Given the description of an element on the screen output the (x, y) to click on. 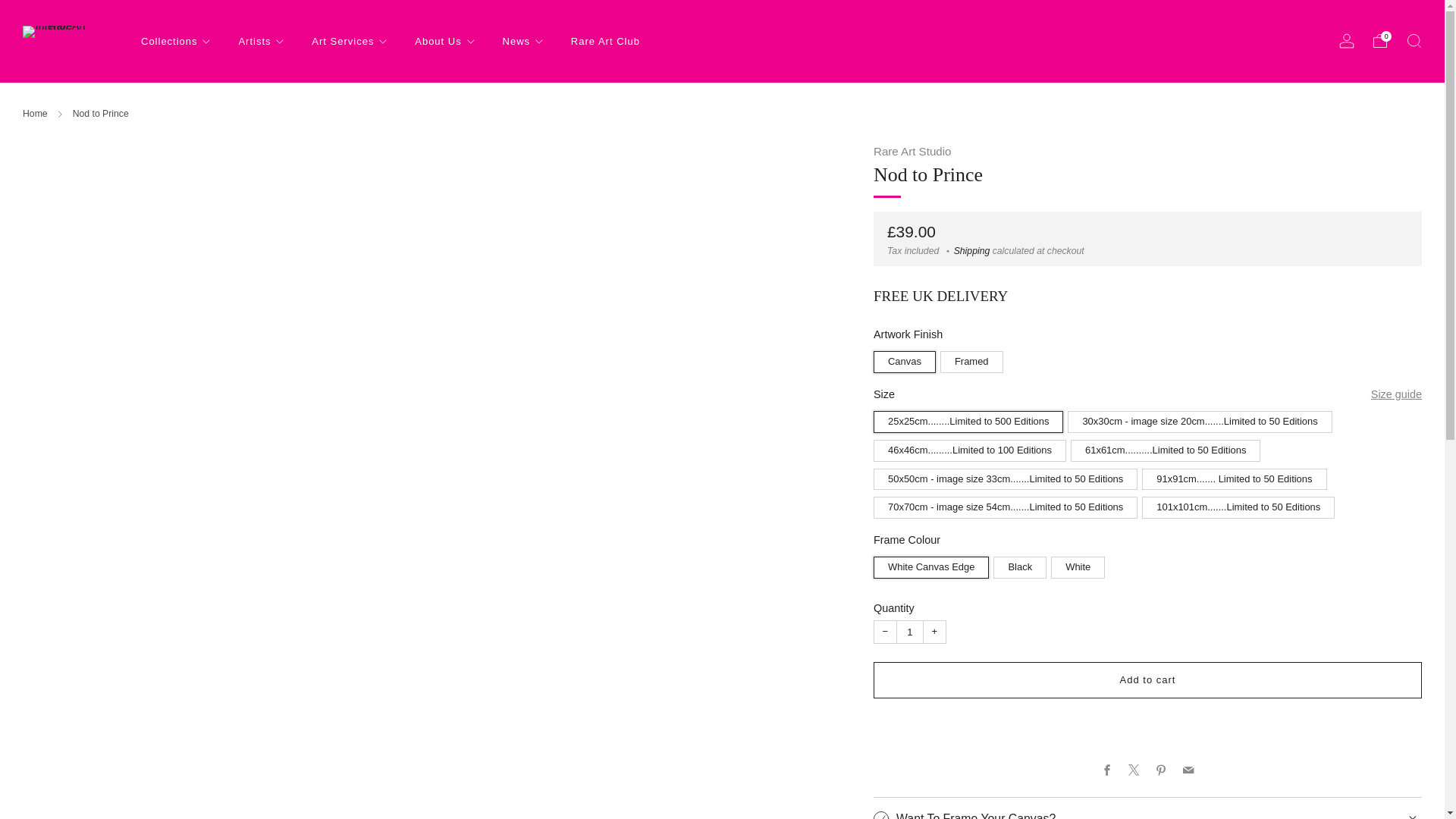
50x50cm - image size 33cm.......Limited to 50 Editions (1007, 475)
White Canvas Edge (932, 563)
70x70cm - image size 54cm.......Limited to 50 Editions (1007, 503)
25x25cm........Limited to 500 Editions (970, 418)
91x91cm....... Limited to 50 Editions (1235, 475)
101x101cm.......Limited to 50 Editions (1240, 503)
Artists (260, 40)
